Given the description of an element on the screen output the (x, y) to click on. 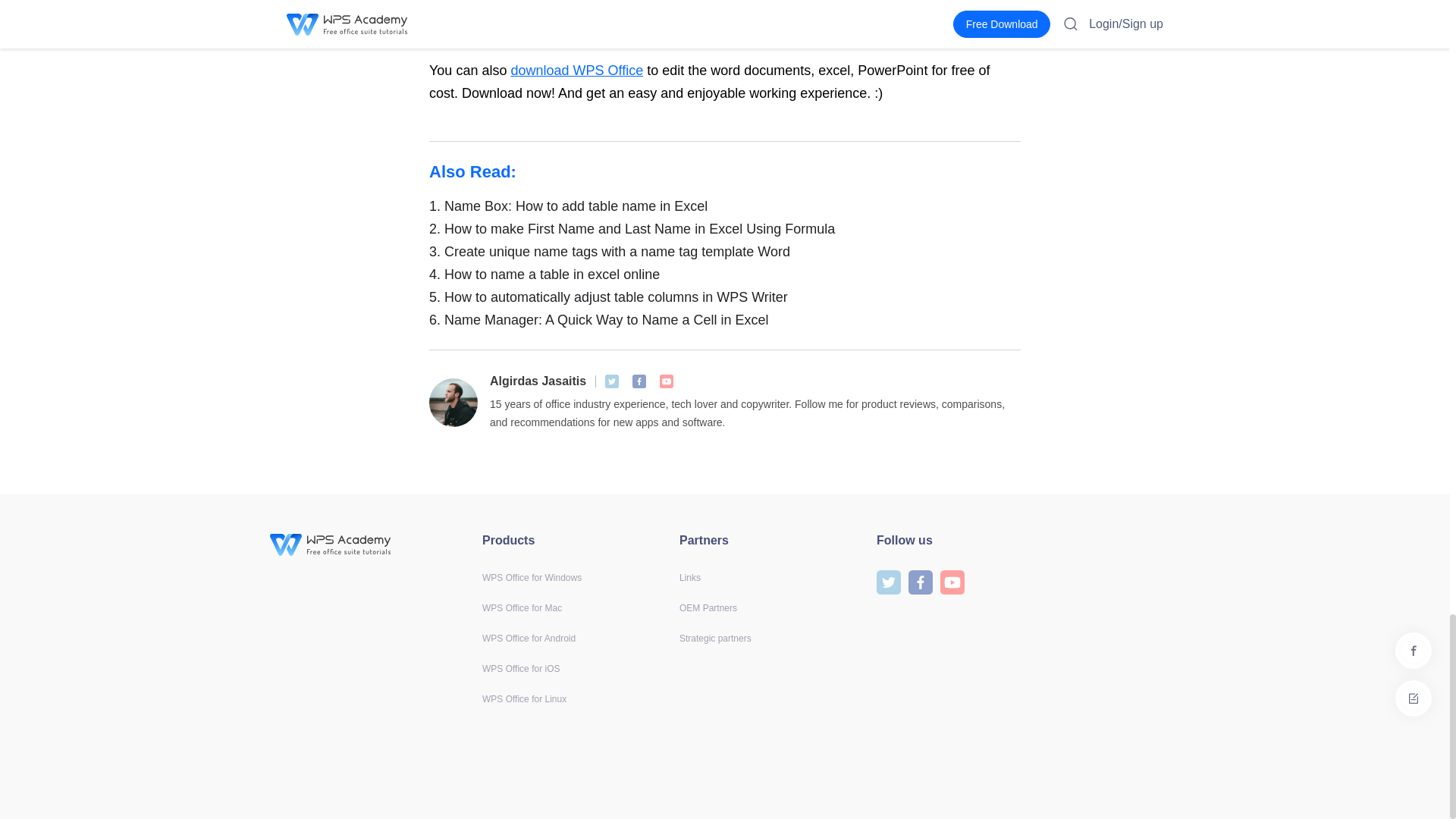
OEM Partners (707, 607)
WPS Office for iOS (520, 668)
download WPS Office (577, 70)
4. How to name a table in excel online (724, 273)
6. Name Manager: A Quick Way to Name a Cell in Excel (724, 319)
Algirdas Jasaitis (537, 381)
How to automatically adjust table columns in WPS Writer (724, 296)
1. Name Box: How to add table name in Excel (724, 205)
WPS Office Official YouTube (665, 381)
WPS Office for Android (528, 638)
Strategic partners (715, 638)
WPS Office for Windows (530, 577)
Name Manager: A Quick Way to Name a Cell in Excel (724, 319)
5. How to automatically adjust table columns in WPS Writer (724, 296)
